Given the description of an element on the screen output the (x, y) to click on. 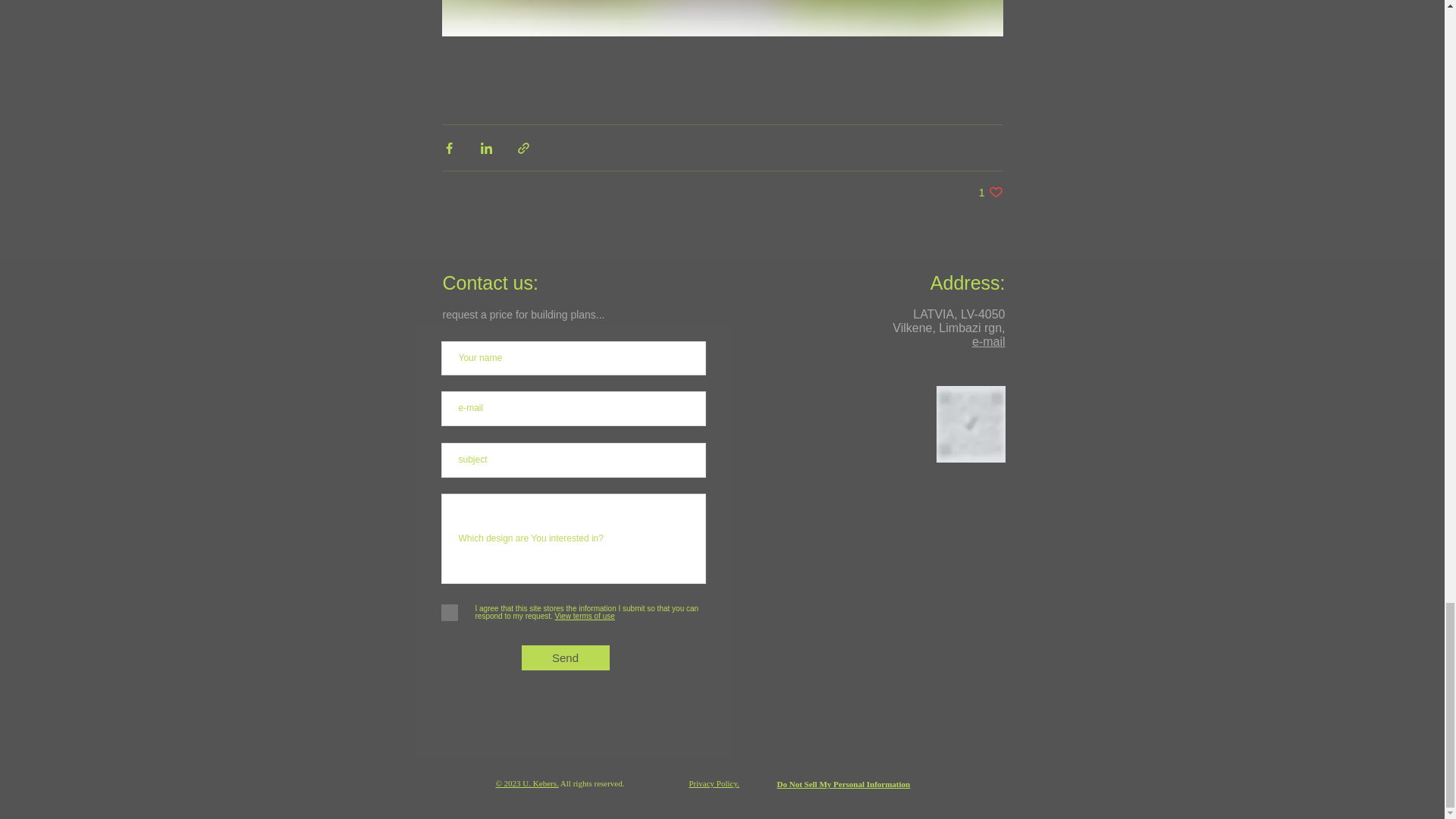
e-mail (989, 341)
View terms of use (583, 615)
Do Not Sell My Personal Information (843, 784)
Send (565, 657)
Privacy Policy. (990, 192)
